Given the description of an element on the screen output the (x, y) to click on. 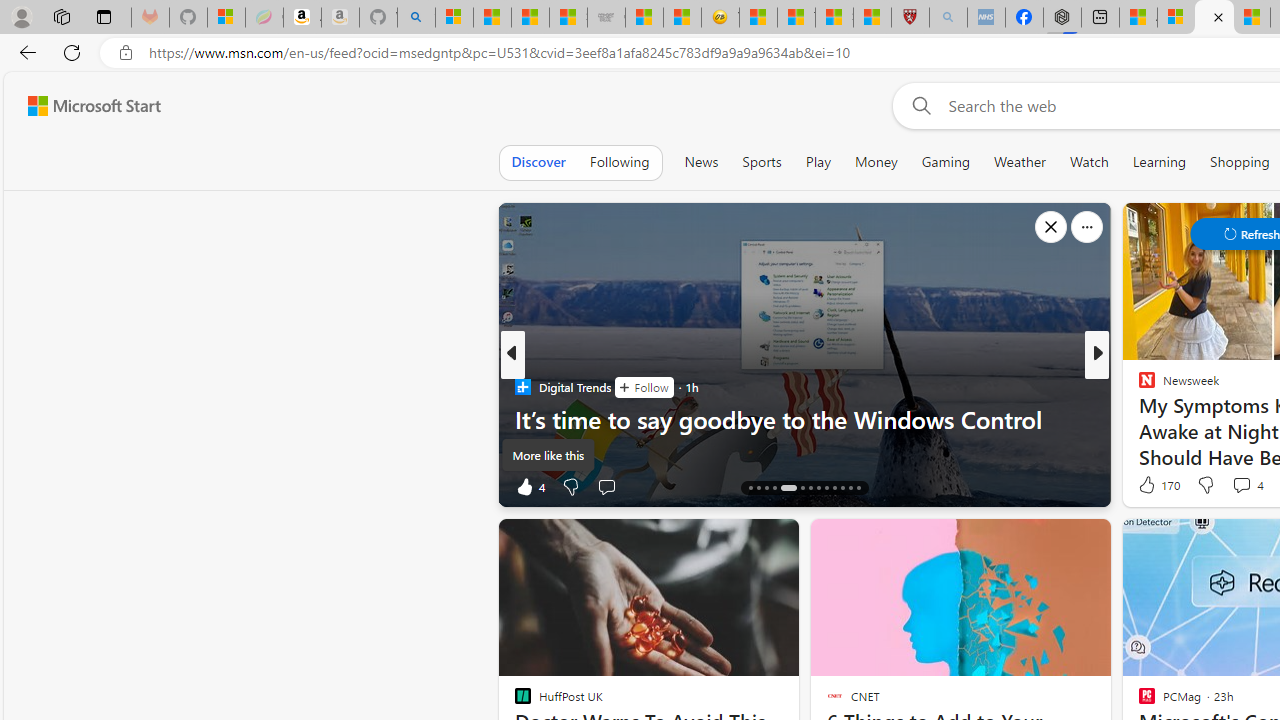
View comments 34 Comment (1244, 486)
4 Like (528, 486)
Million Dollar Sense (1138, 418)
AutomationID: tab-20 (810, 487)
Digital Trends (522, 386)
